Given the description of an element on the screen output the (x, y) to click on. 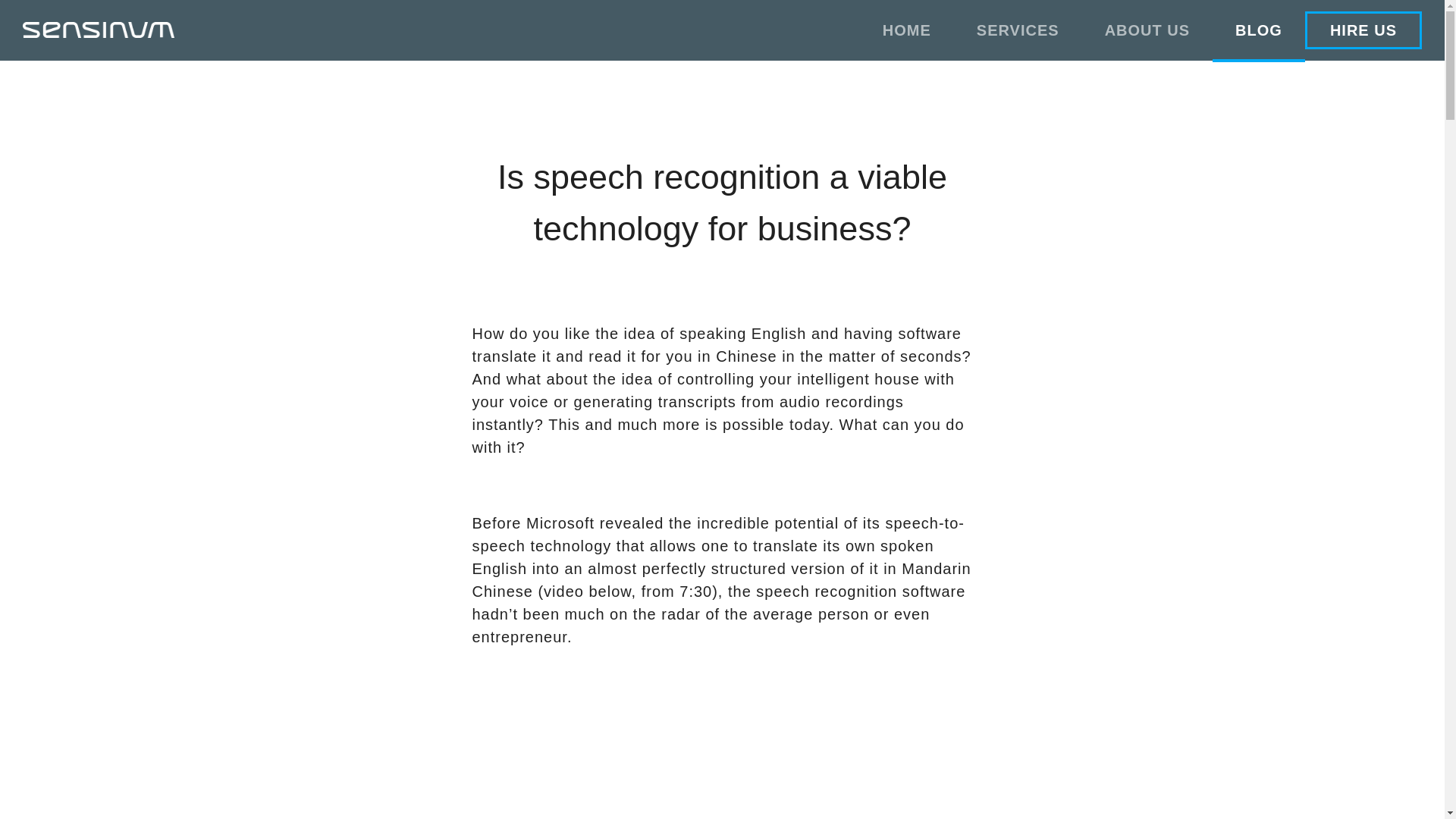
Sensinum (98, 30)
ABOUT US (1147, 30)
SERVICES (1017, 30)
HOME (906, 30)
HIRE US (1363, 30)
BLOG (1258, 30)
